Given the description of an element on the screen output the (x, y) to click on. 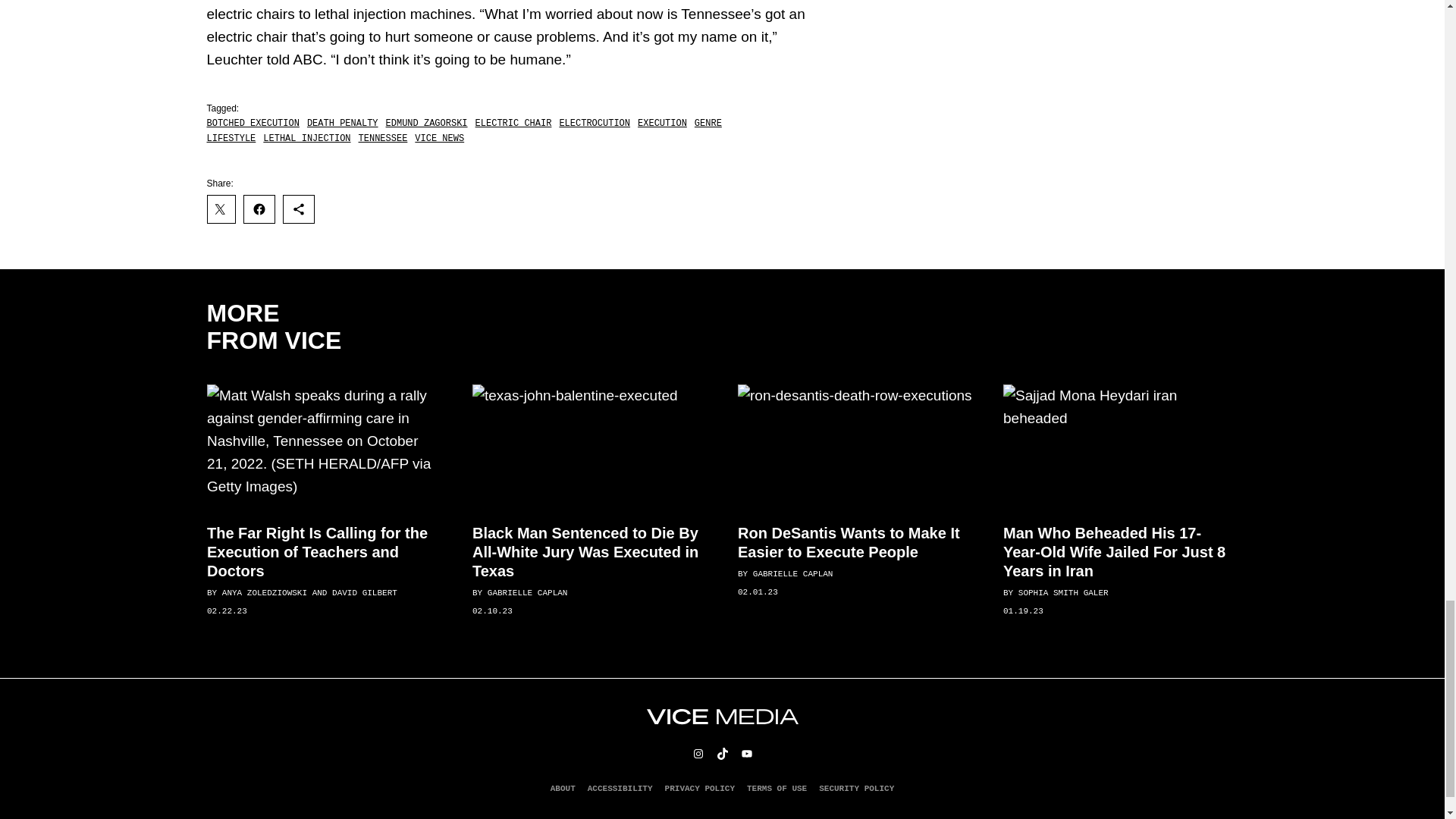
Posts by David Gilbert (364, 592)
Posts by Anya Zoledziowski (263, 592)
Posts by Gabrielle Caplan (526, 592)
